Given the description of an element on the screen output the (x, y) to click on. 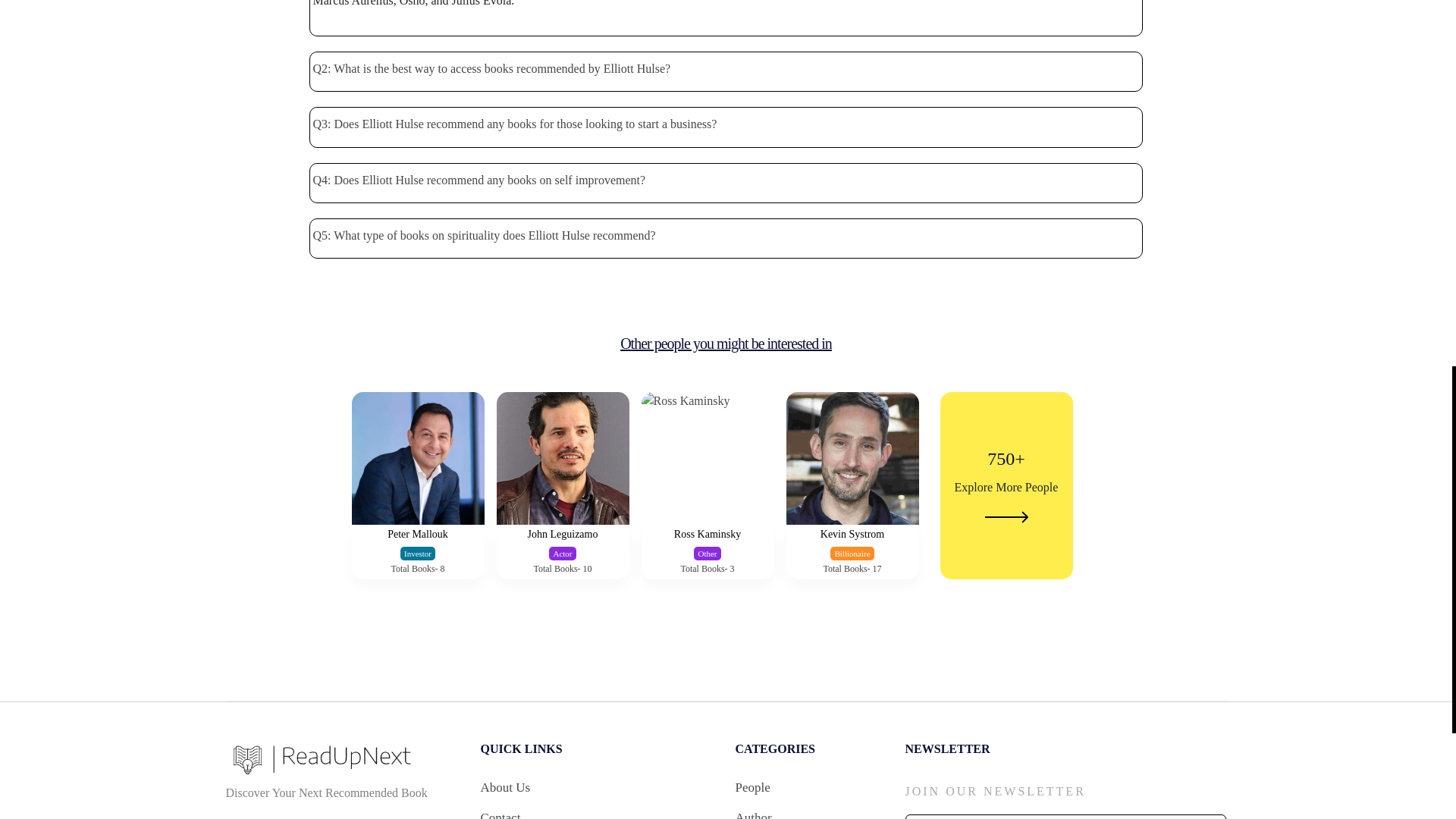
People (752, 788)
Author (852, 500)
About Us (562, 500)
Contact (753, 811)
